Given the description of an element on the screen output the (x, y) to click on. 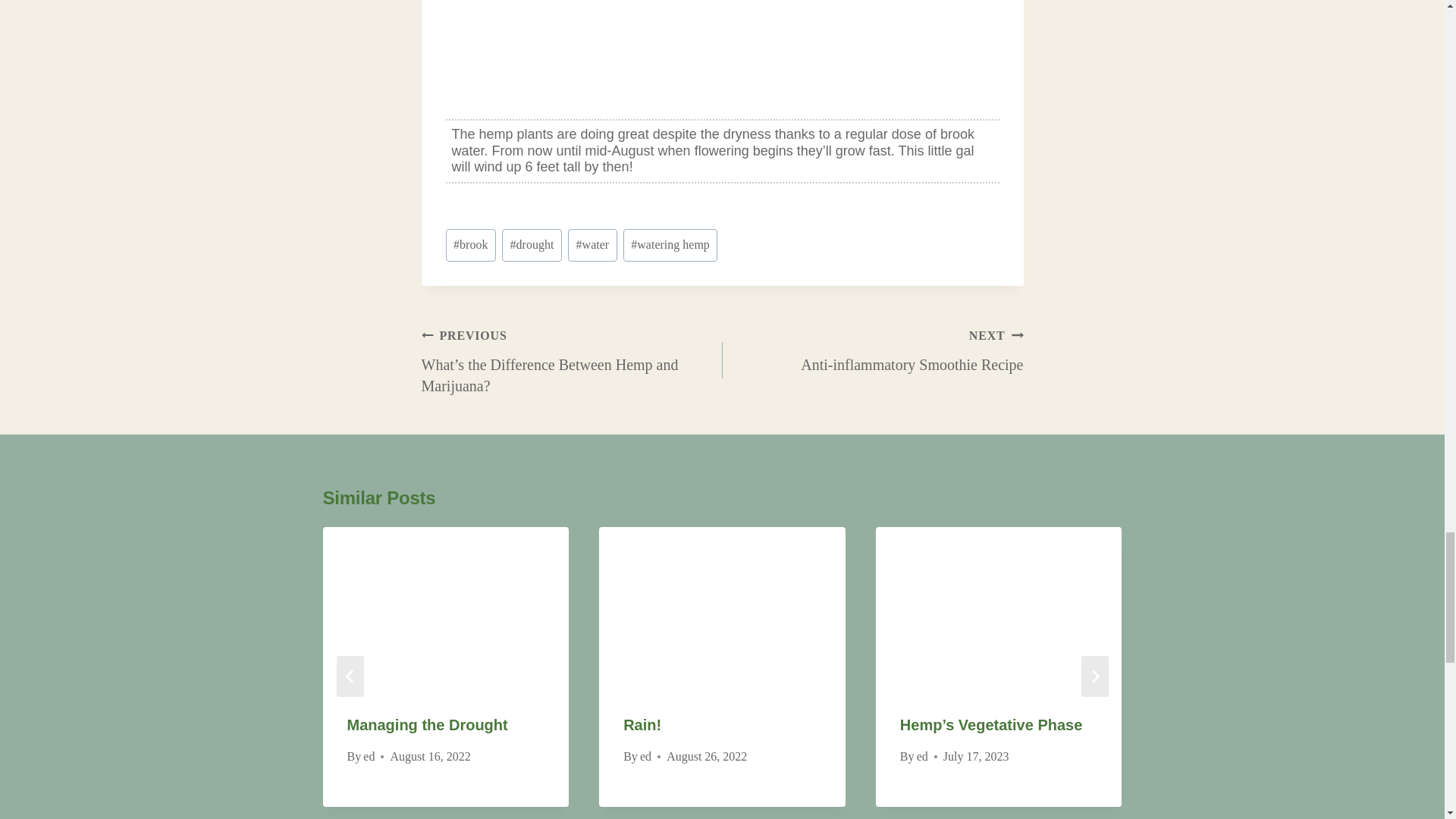
brook (872, 349)
water (470, 245)
watering hemp (592, 245)
Managing the Drought (670, 245)
drought (427, 724)
